Given the description of an element on the screen output the (x, y) to click on. 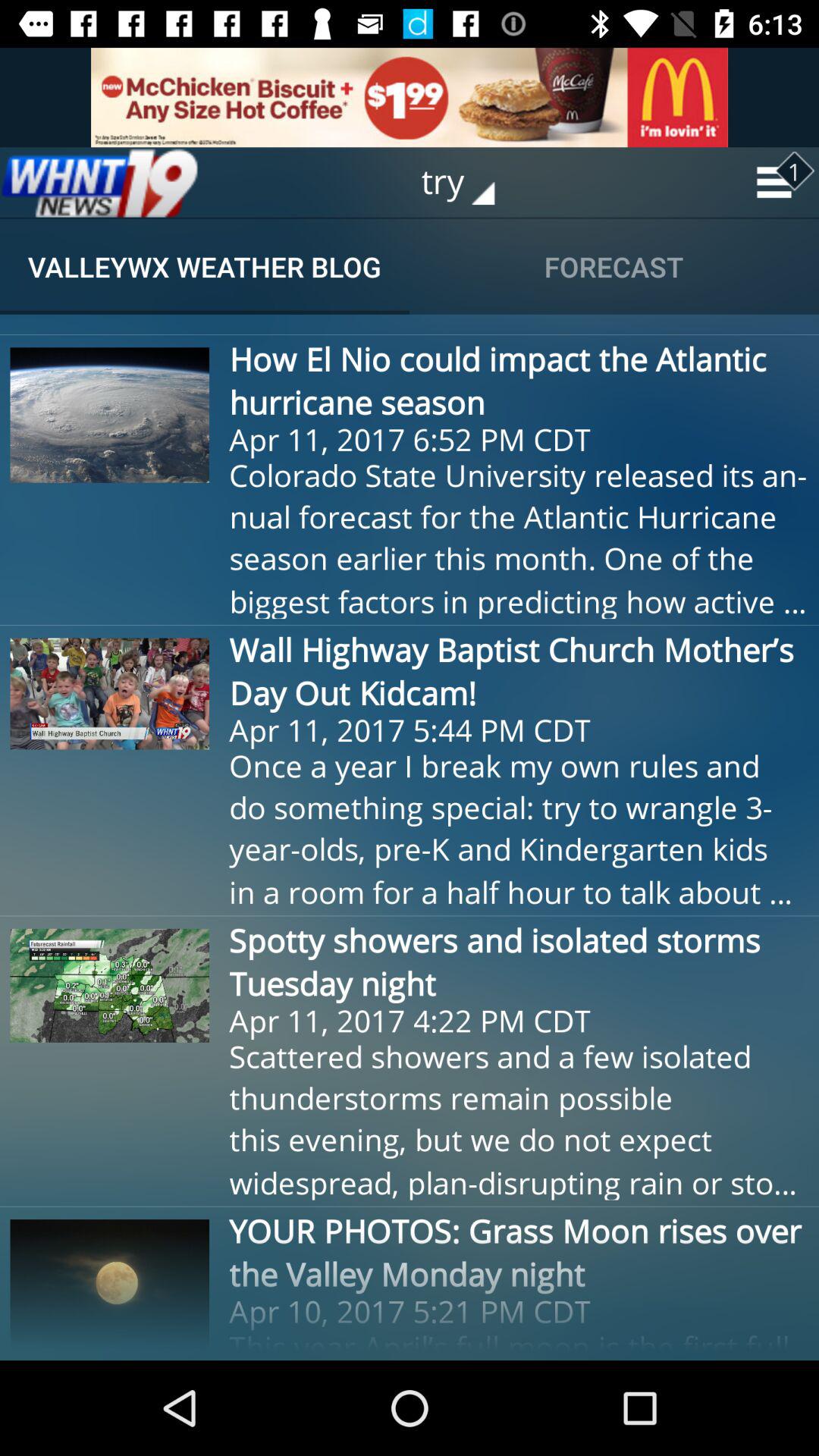
view advertisement details (409, 97)
